Given the description of an element on the screen output the (x, y) to click on. 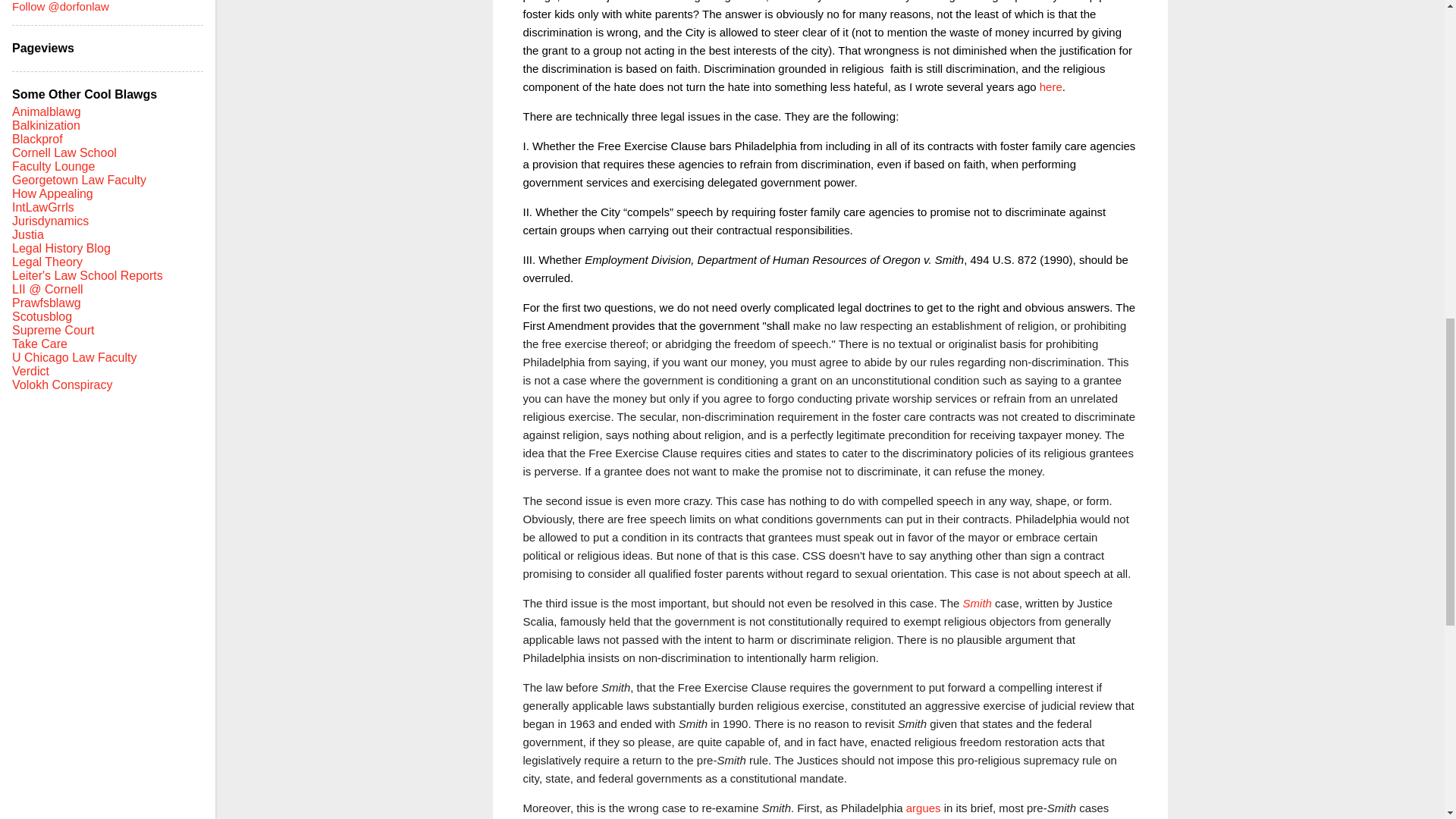
here (1050, 86)
argues (922, 807)
Smith (976, 602)
